Given the description of an element on the screen output the (x, y) to click on. 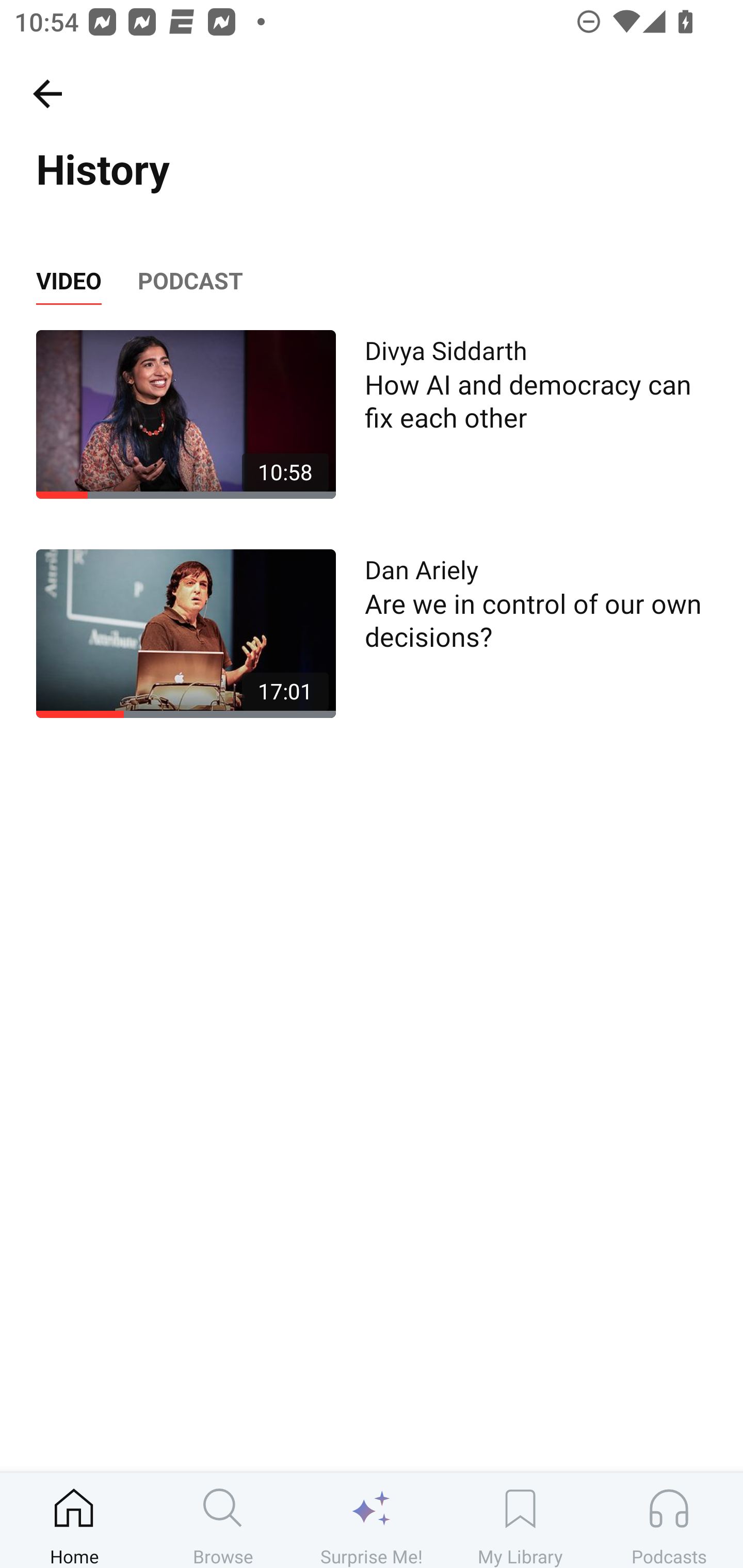
My Profile, back (47, 92)
VIDEO (68, 281)
PODCAST (189, 281)
Home (74, 1520)
Browse (222, 1520)
Surprise Me! (371, 1520)
My Library (519, 1520)
Podcasts (668, 1520)
